Given the description of an element on the screen output the (x, y) to click on. 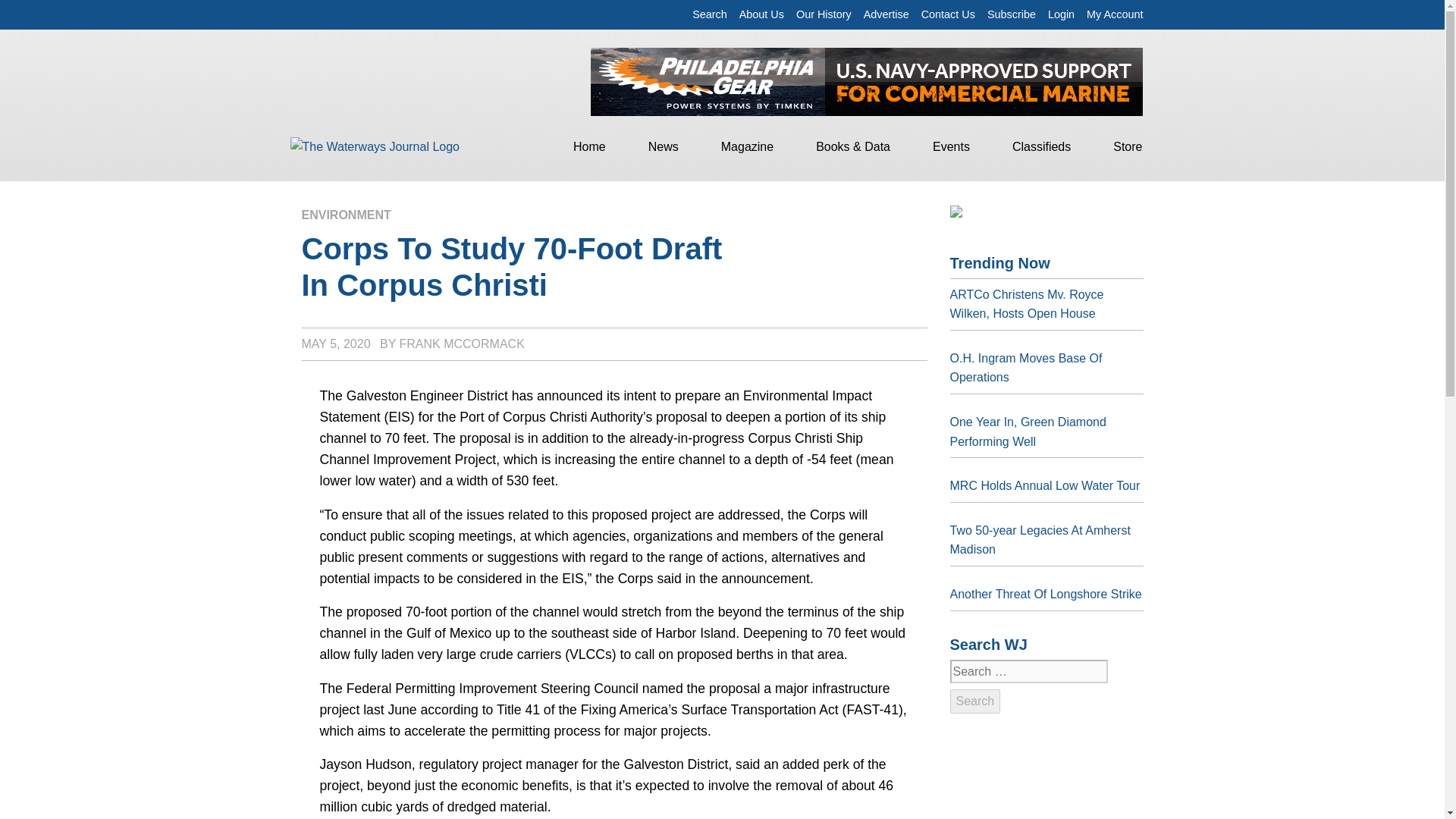
Magazine (747, 146)
Search (974, 701)
Events (950, 146)
Search (709, 14)
Advertise (885, 14)
Search (974, 701)
Subscribe (1011, 14)
Contact Us (948, 14)
Subscribe (1011, 14)
My Account (1114, 14)
